Given the description of an element on the screen output the (x, y) to click on. 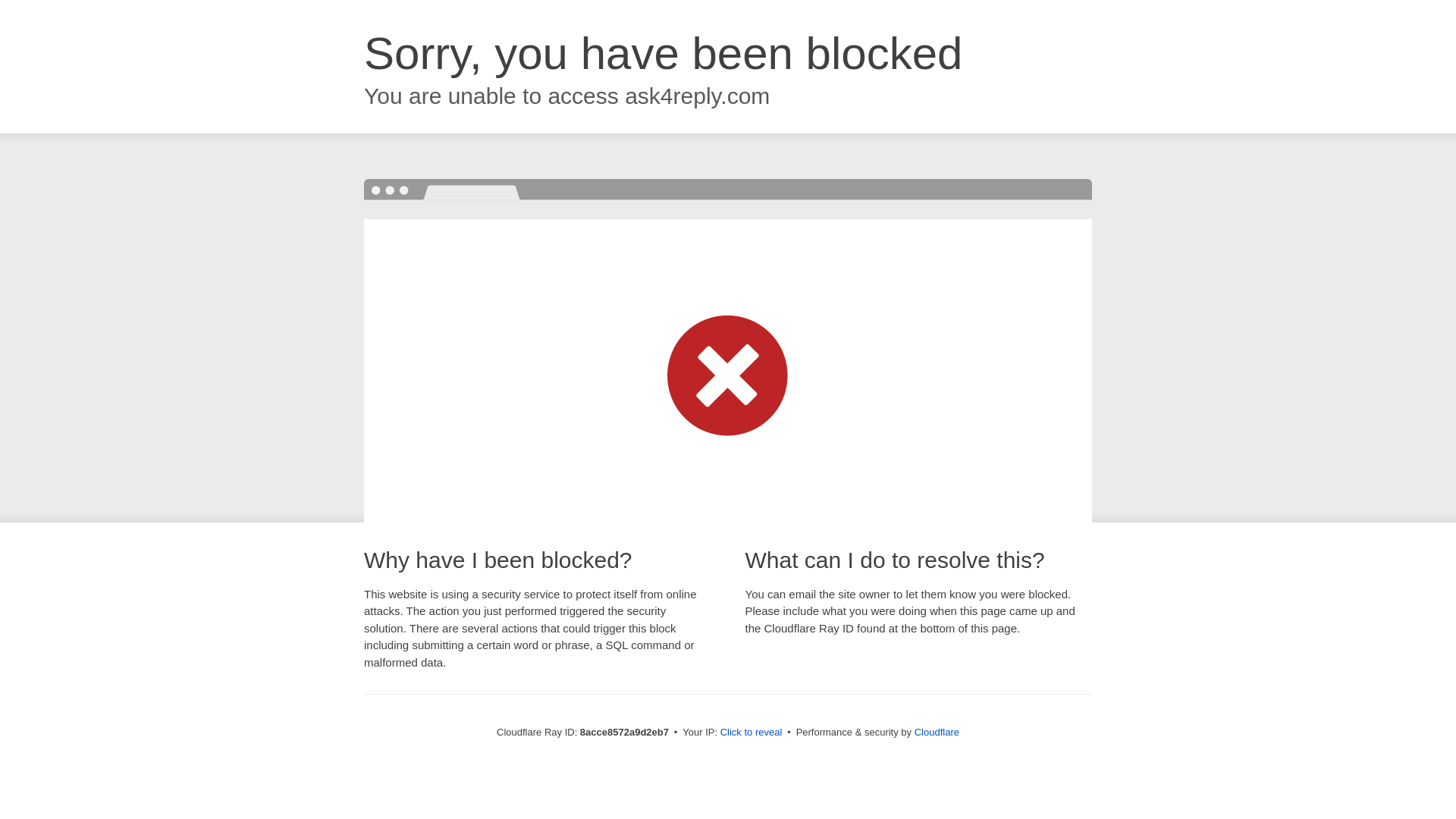
Click to reveal (751, 732)
Cloudflare (936, 731)
